Given the description of an element on the screen output the (x, y) to click on. 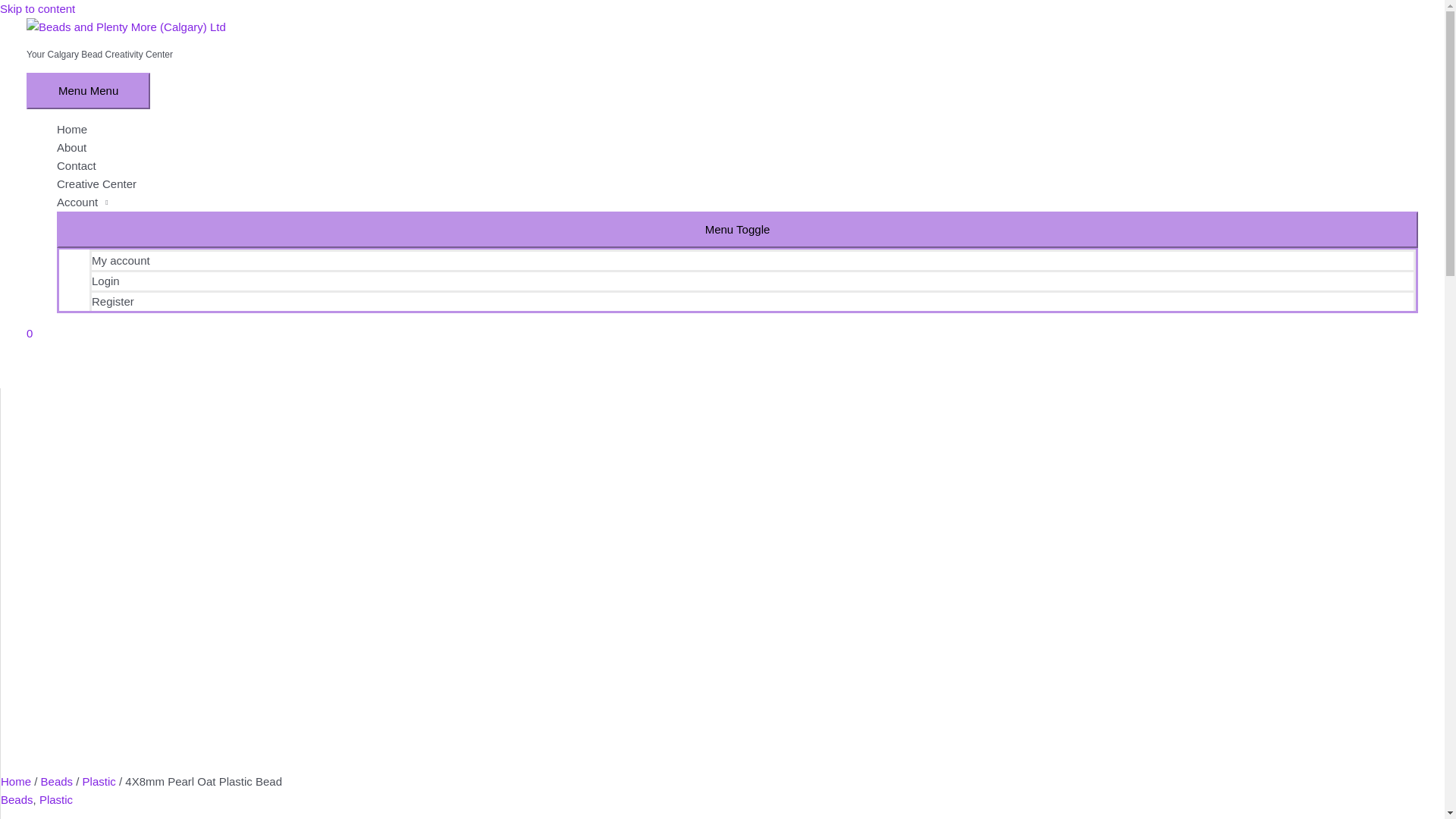
Beads Element type: text (16, 799)
About Element type: text (737, 147)
Skip to content Element type: text (37, 8)
Beads Element type: text (56, 781)
Home Element type: text (15, 781)
0 Element type: text (722, 333)
Contact Element type: text (737, 165)
Plastic Element type: text (99, 781)
My account Element type: text (752, 259)
Menu Toggle Element type: text (737, 229)
Home Element type: text (737, 129)
Register Element type: text (752, 300)
Login Element type: text (752, 279)
Plastic Element type: text (55, 799)
Account Element type: text (737, 202)
Menu Menu Element type: text (88, 90)
Creative Center Element type: text (737, 184)
